Given the description of an element on the screen output the (x, y) to click on. 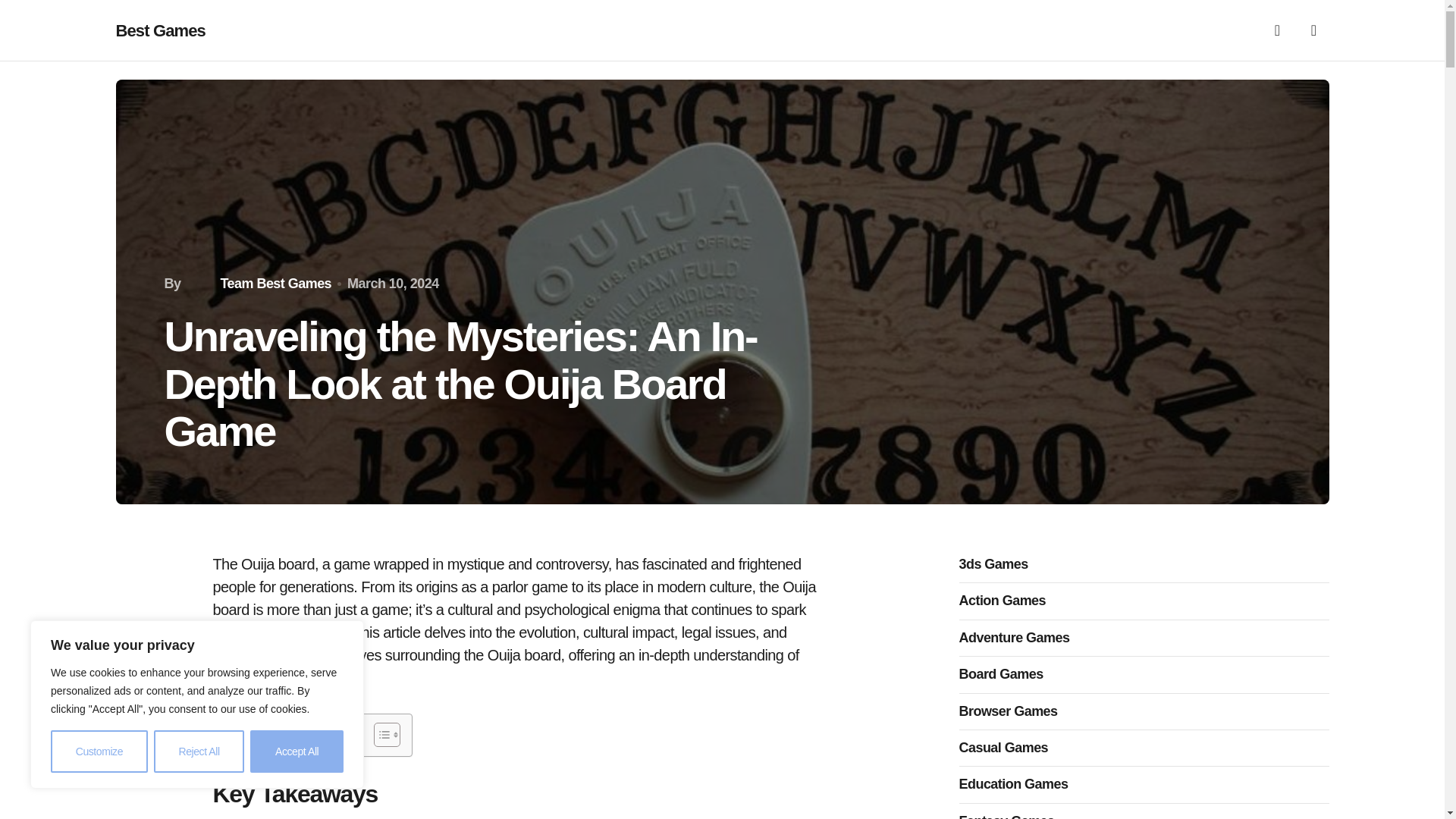
Reject All (199, 751)
Customize (99, 751)
Accept All (296, 751)
